Given the description of an element on the screen output the (x, y) to click on. 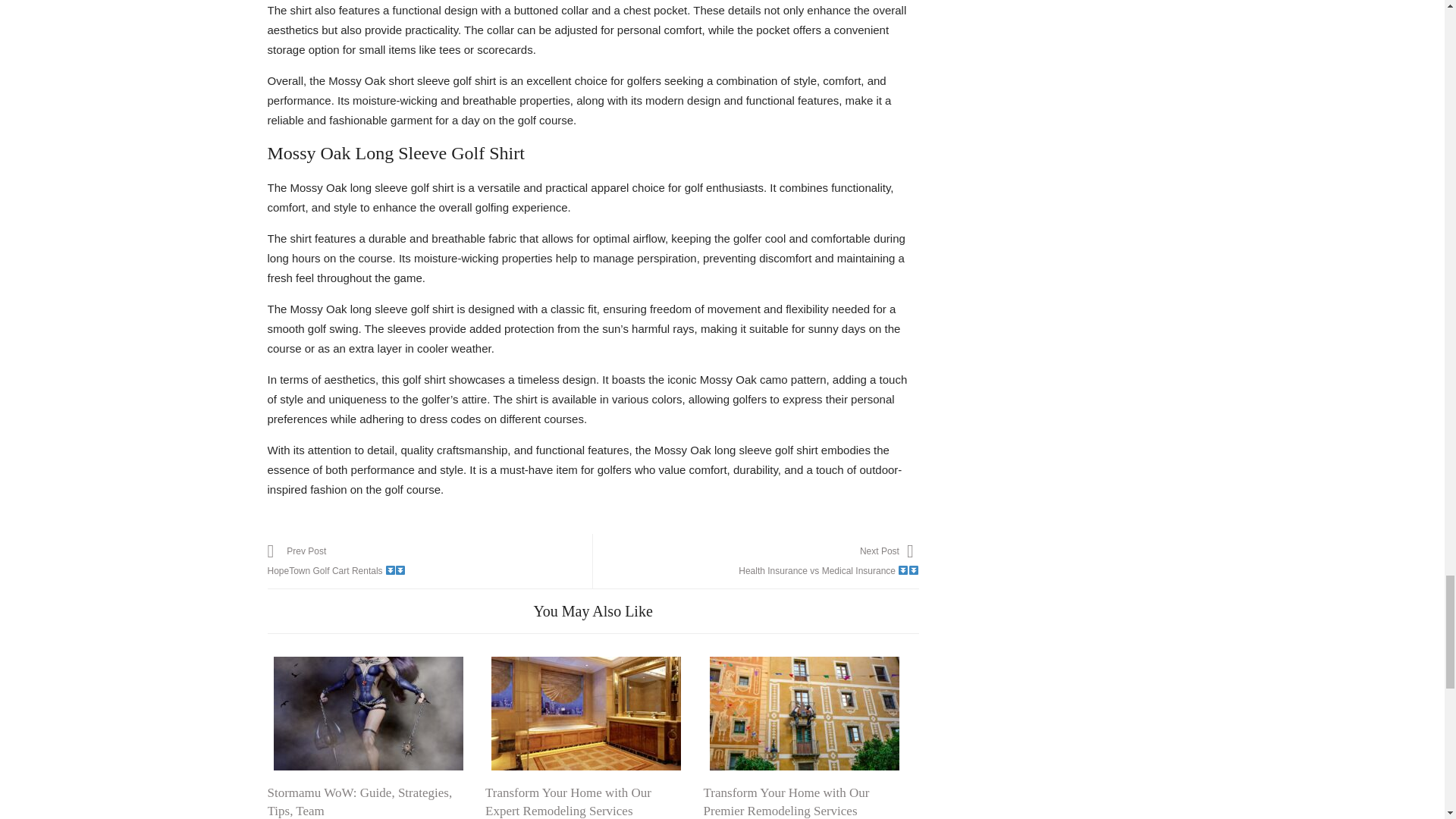
Transform Your Home with Our Premier Remodeling Services (786, 801)
Transform Your Home with Our Expert Remodeling Services (567, 801)
Stormamu WoW: Guide, Strategies, Tips, Team (367, 713)
Stormamu WoW: Guide, Strategies, Tips, Team (429, 560)
Transform Your Home with Our Expert Remodeling Services (358, 801)
Transform Your Home with Our Premier Remodeling Services (755, 560)
